Given the description of an element on the screen output the (x, y) to click on. 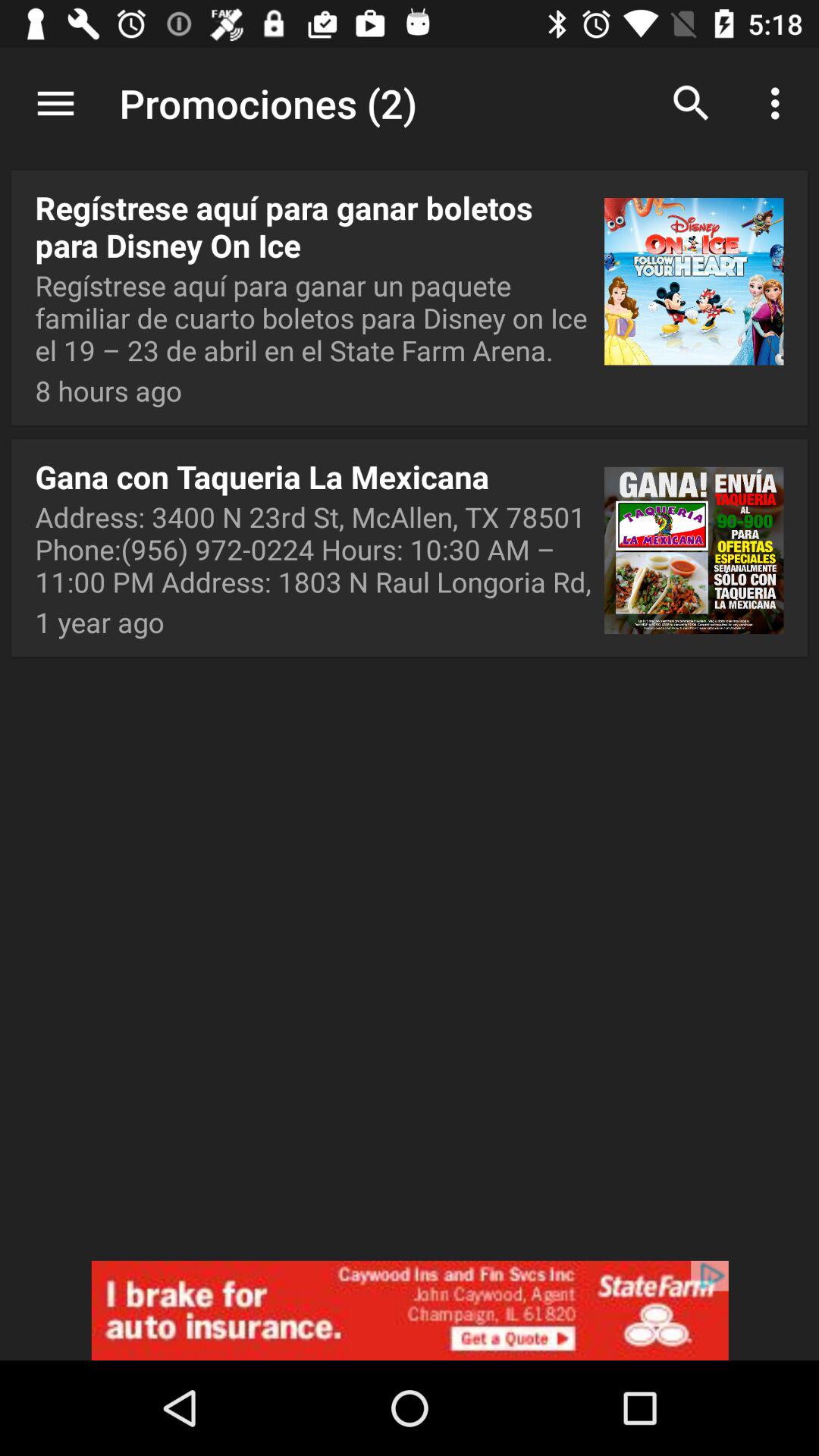
state farm advertisement (409, 1310)
